Given the description of an element on the screen output the (x, y) to click on. 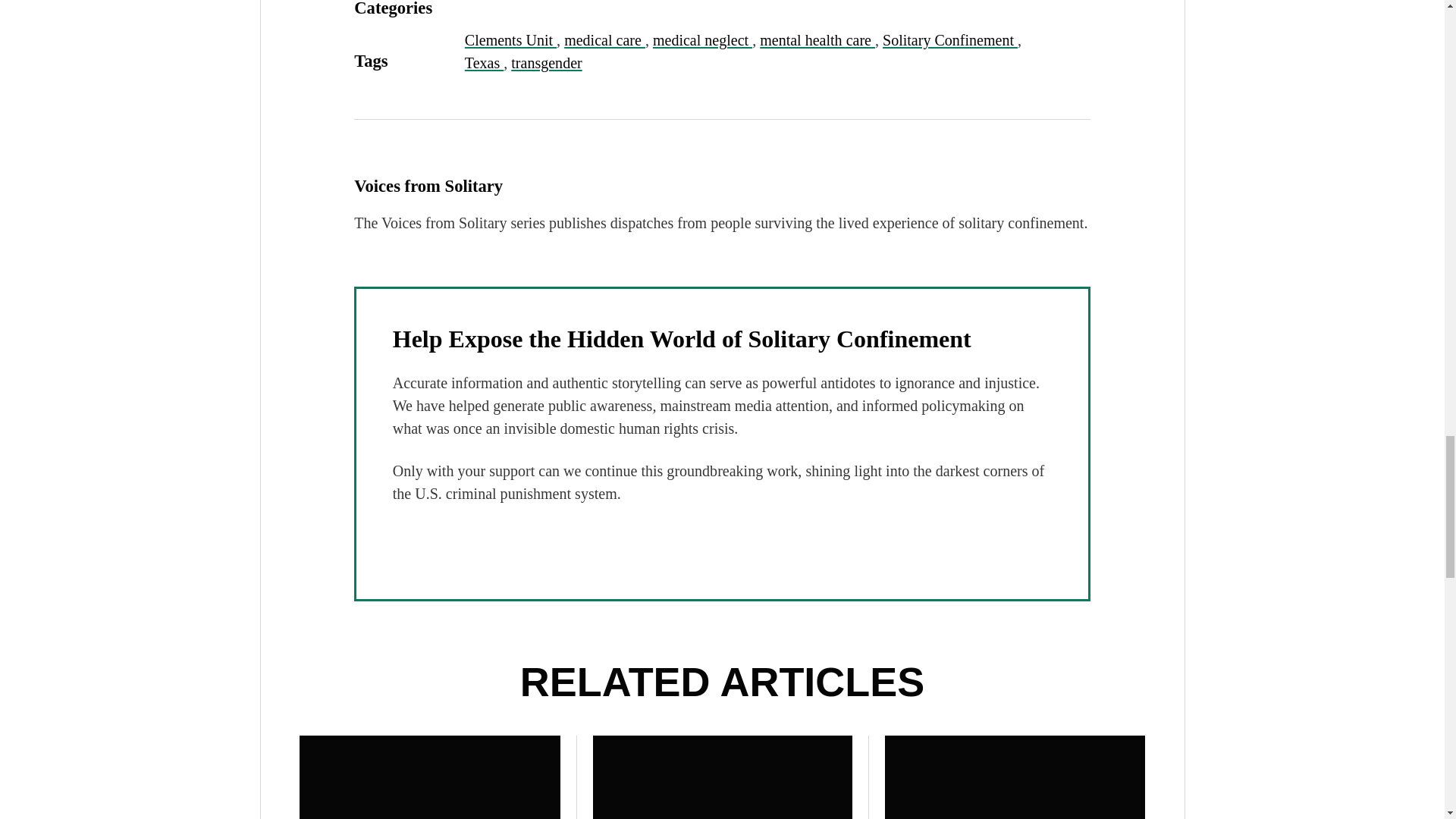
medical care (604, 39)
transgender (545, 62)
Clements Unit (510, 39)
medical neglect (702, 39)
Texas (483, 62)
Solitary Confinement (949, 39)
mental health care (817, 39)
